Given the description of an element on the screen output the (x, y) to click on. 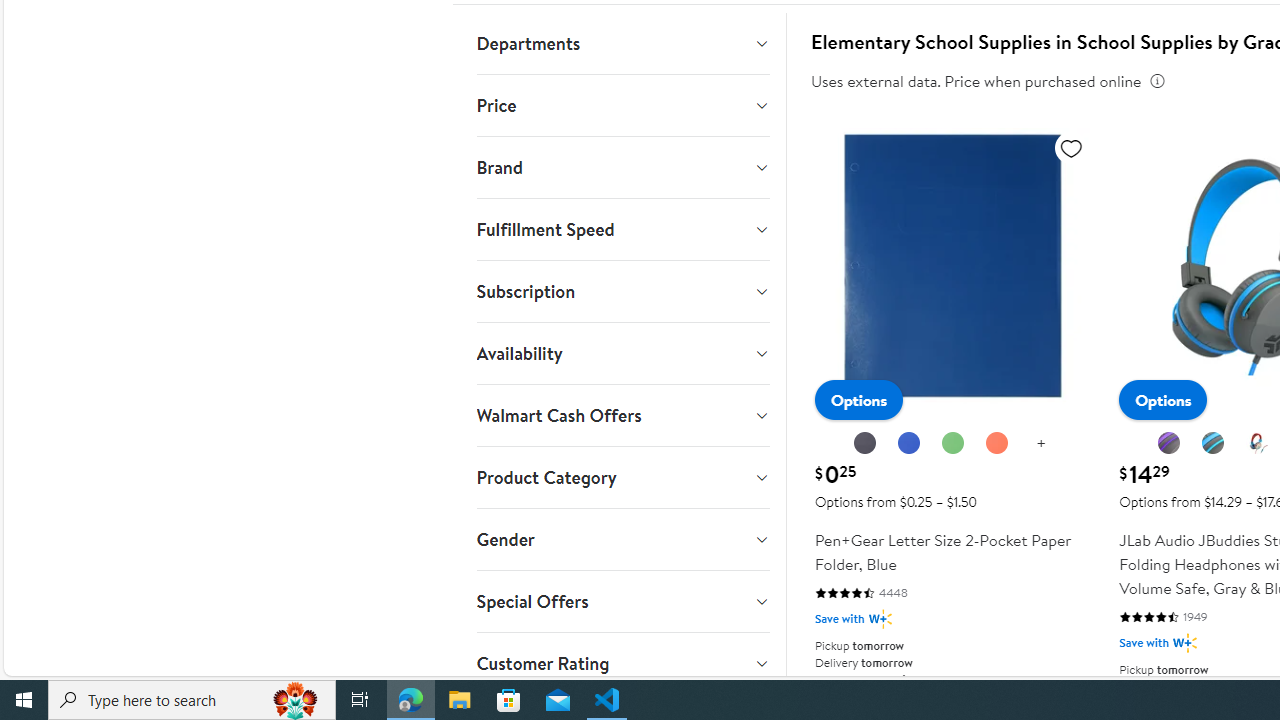
Walmart Cash Offers (622, 416)
Orange (997, 444)
Orange (996, 443)
show more color options (1040, 443)
Green (952, 443)
Product Category (622, 478)
Price (622, 105)
Walmart Cash Offers (622, 416)
Black (864, 443)
Availability (622, 354)
Fulfillment Speed (622, 229)
Blue (908, 443)
Graphite Purple (1170, 444)
Brand (622, 167)
